Given the description of an element on the screen output the (x, y) to click on. 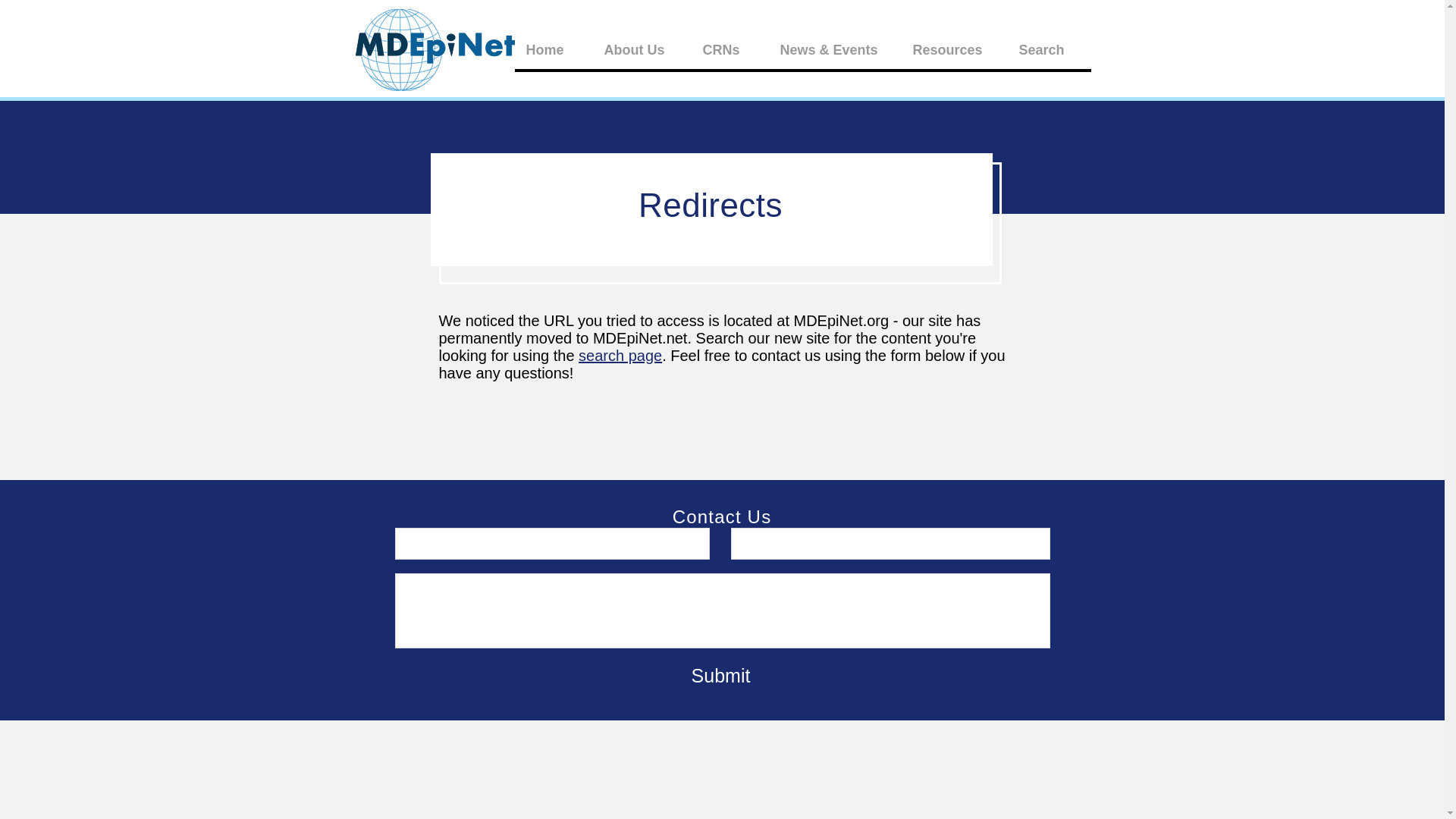
Submit (720, 675)
search page (620, 355)
Search (1048, 49)
CRNs (728, 49)
About Us (640, 49)
Home (552, 49)
Resources (954, 49)
